Given the description of an element on the screen output the (x, y) to click on. 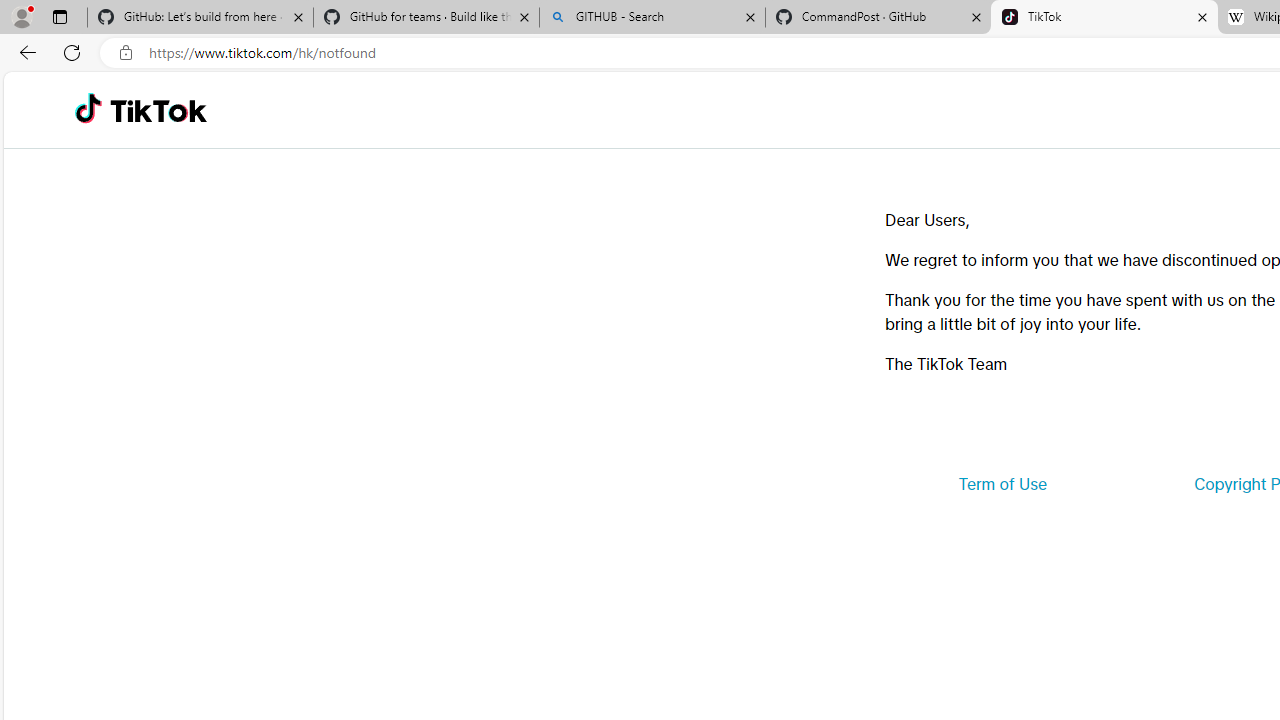
Term of Use (1002, 484)
GITHUB - Search (652, 17)
